Given the description of an element on the screen output the (x, y) to click on. 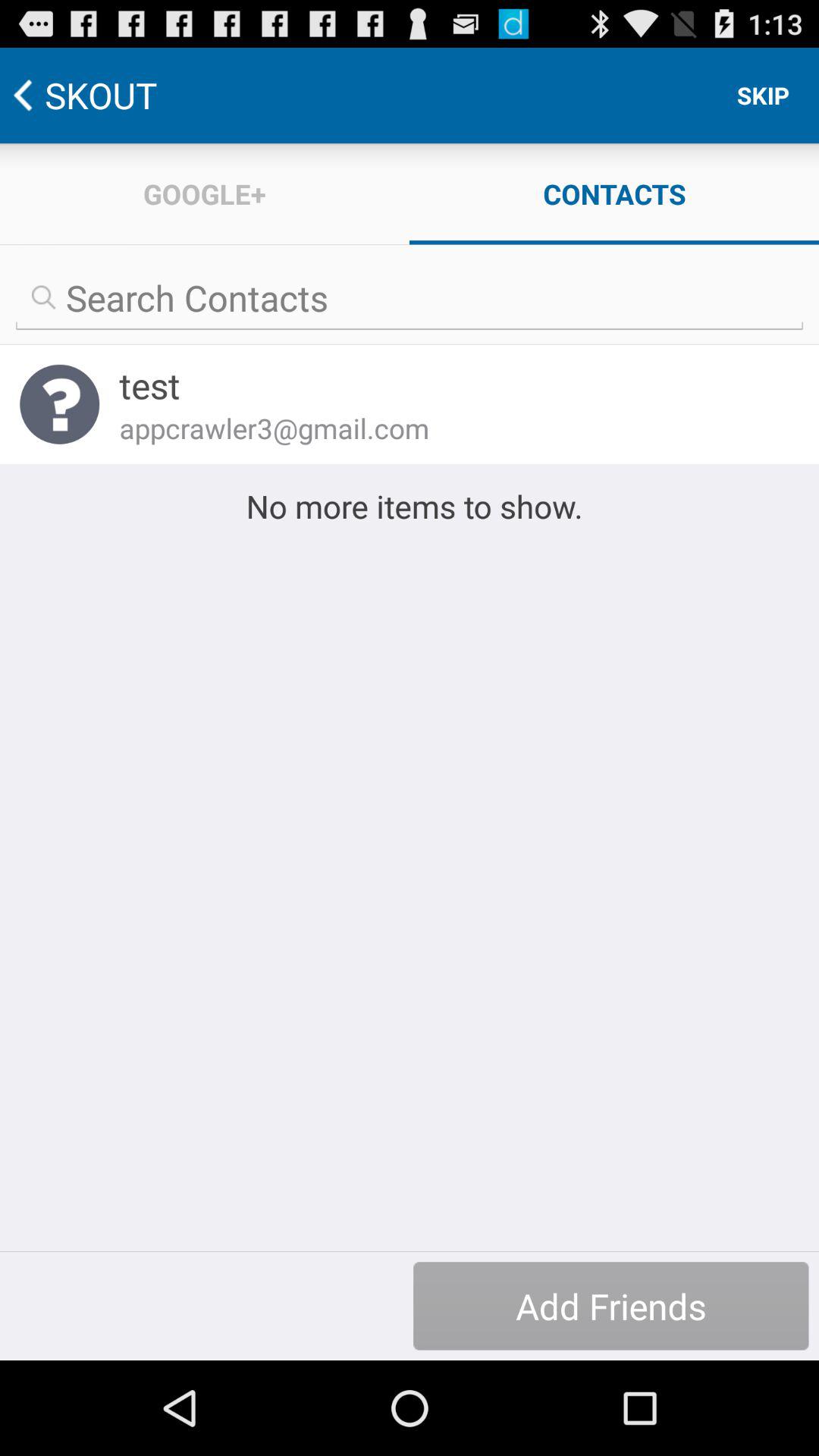
click item next to the contacts icon (204, 193)
